Given the description of an element on the screen output the (x, y) to click on. 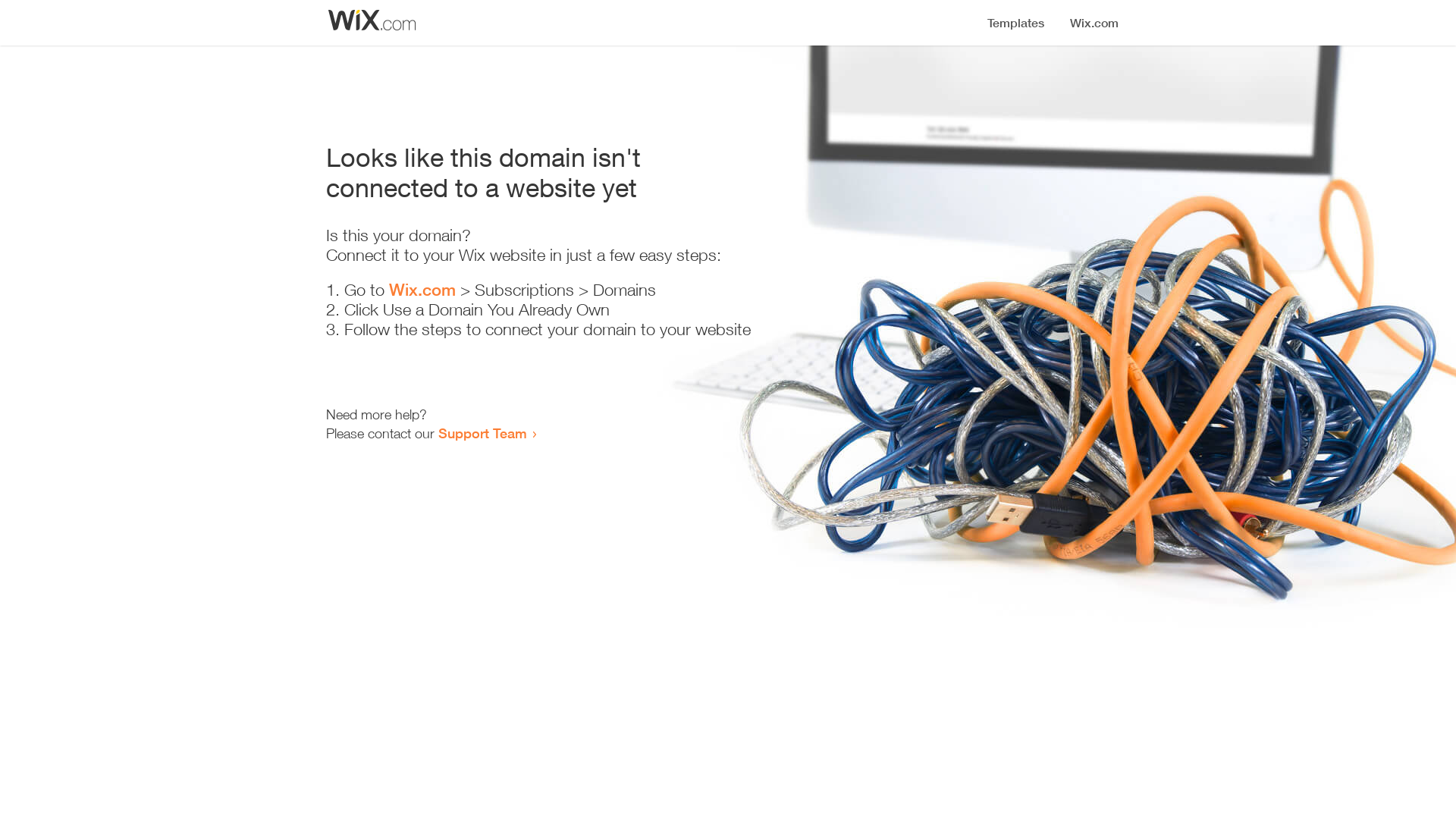
Wix.com Element type: text (422, 289)
Support Team Element type: text (482, 432)
